Given the description of an element on the screen output the (x, y) to click on. 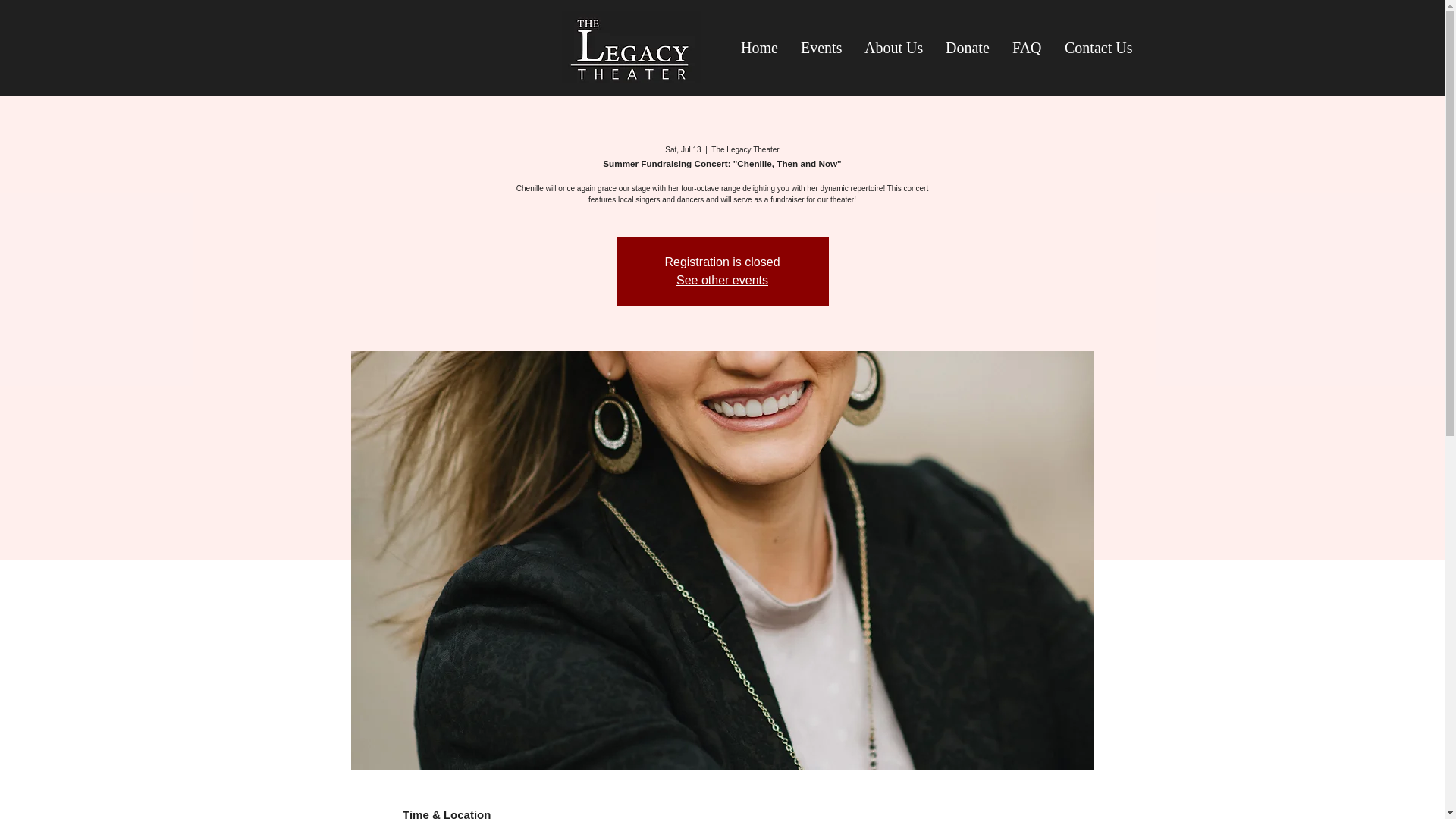
FAQ (1026, 47)
See other events (722, 279)
Donate (967, 47)
Contact Us (1097, 47)
Home (759, 47)
About Us (893, 47)
